Given the description of an element on the screen output the (x, y) to click on. 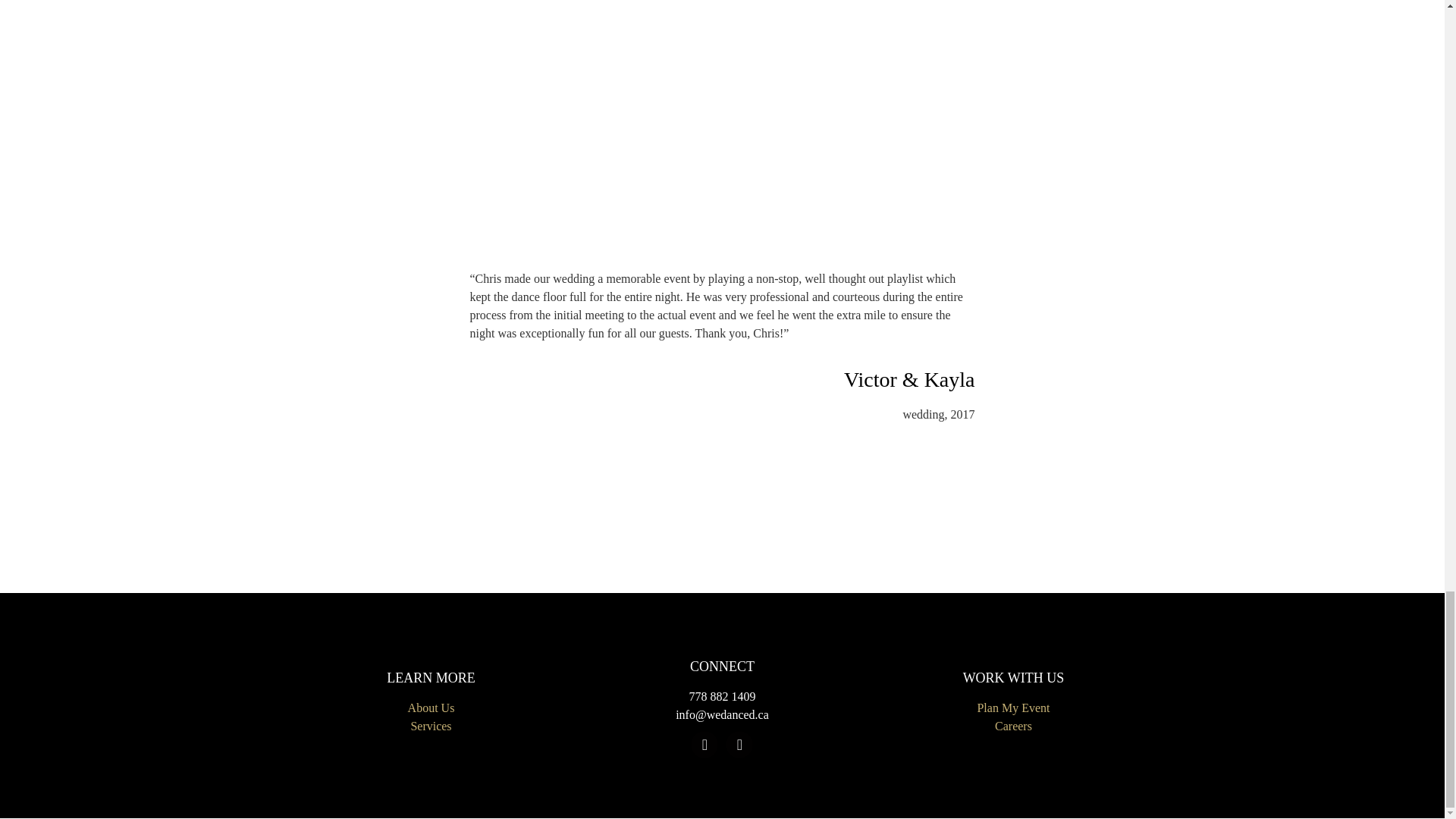
We Danced Submark A (722, 127)
Services (430, 725)
About Us (430, 707)
Plan My Event (1012, 707)
Careers (1013, 725)
